Given the description of an element on the screen output the (x, y) to click on. 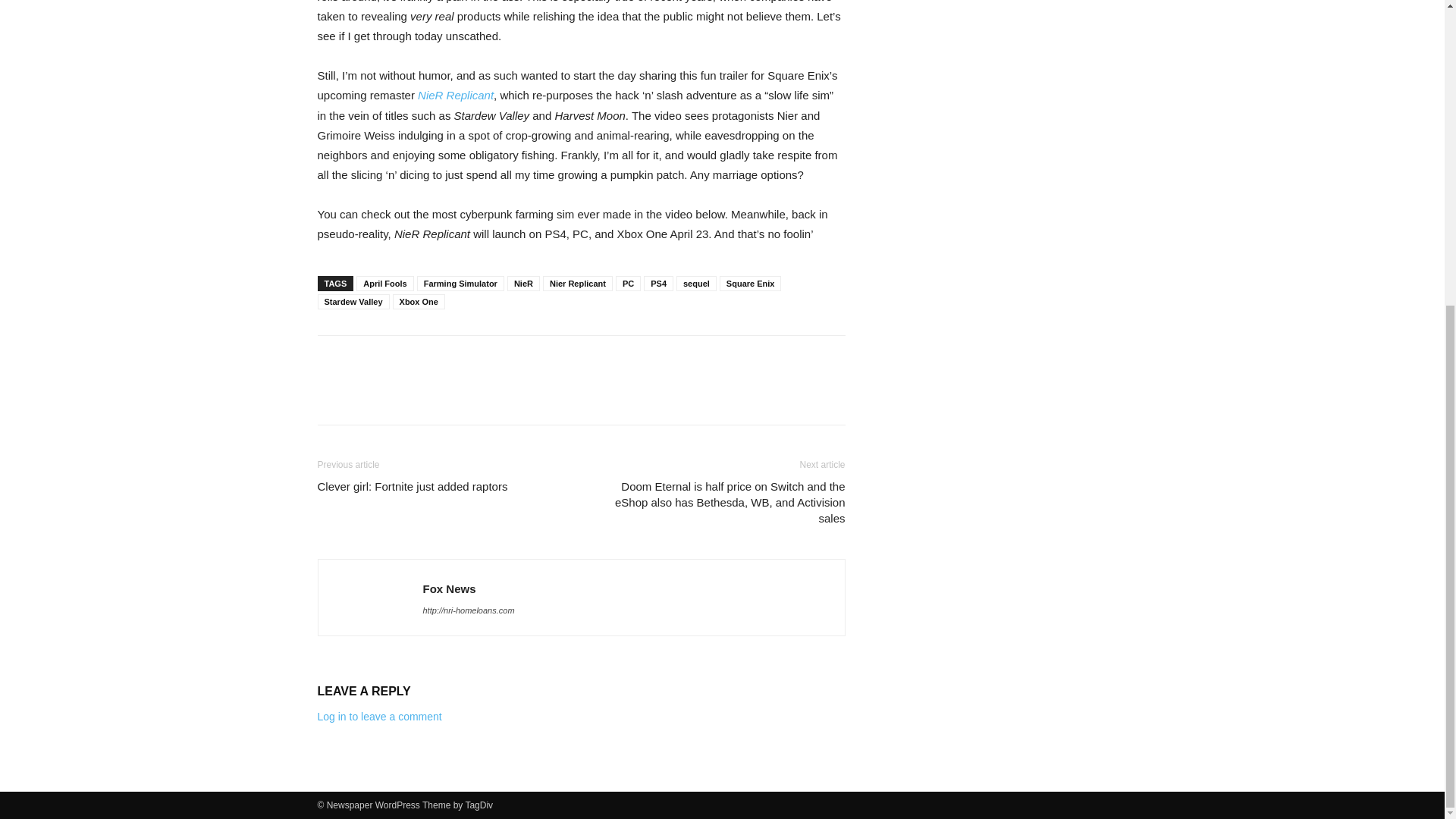
Stardew Valley (352, 301)
NieR Replicant (455, 94)
PC (627, 283)
Farming Simulator (459, 283)
Square Enix (750, 283)
NieR (523, 283)
PS4 (657, 283)
bottomFacebookLike (430, 359)
sequel (696, 283)
April Fools (384, 283)
Xbox One (419, 301)
Nier Replicant (577, 283)
